Given the description of an element on the screen output the (x, y) to click on. 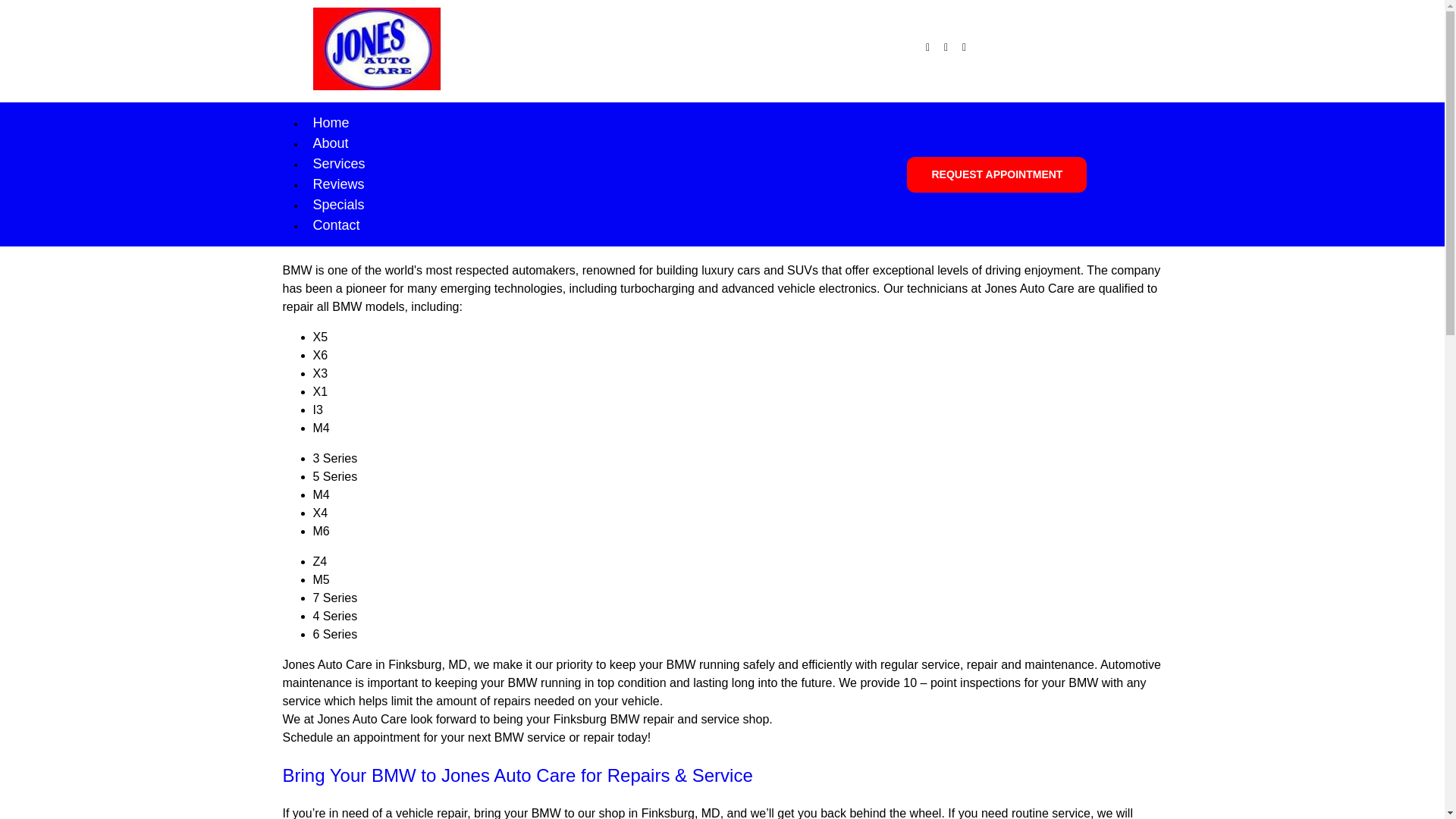
Contact (336, 224)
Specials (338, 204)
REQUEST APPOINTMENT (996, 173)
Reviews (338, 183)
About (330, 142)
Services (339, 163)
Home (331, 122)
